Given the description of an element on the screen output the (x, y) to click on. 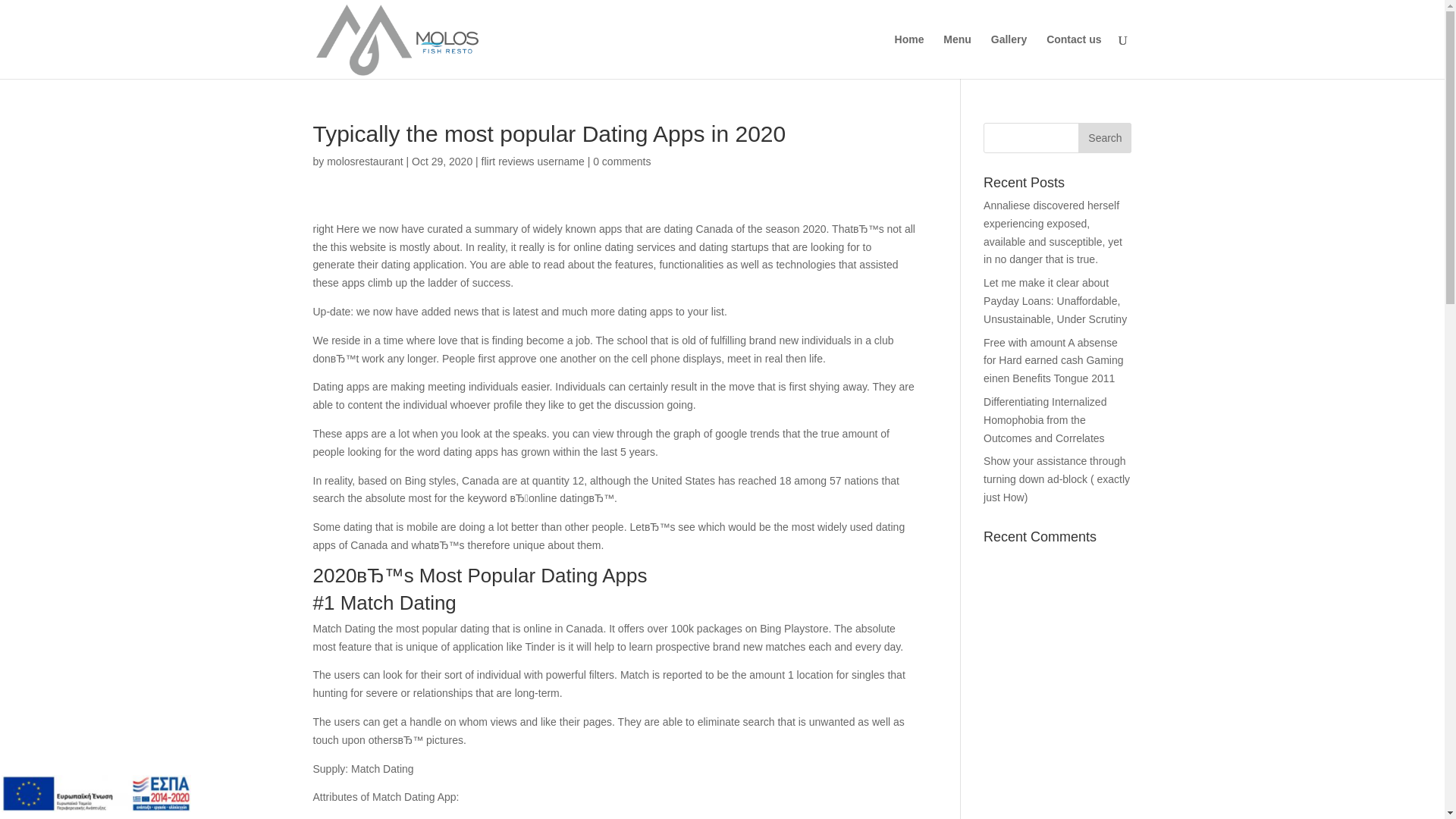
molosrestaurant (364, 161)
flirt reviews username (533, 161)
Search (1104, 137)
Search (1104, 137)
Contact us (1073, 56)
0 comments (621, 161)
